Given the description of an element on the screen output the (x, y) to click on. 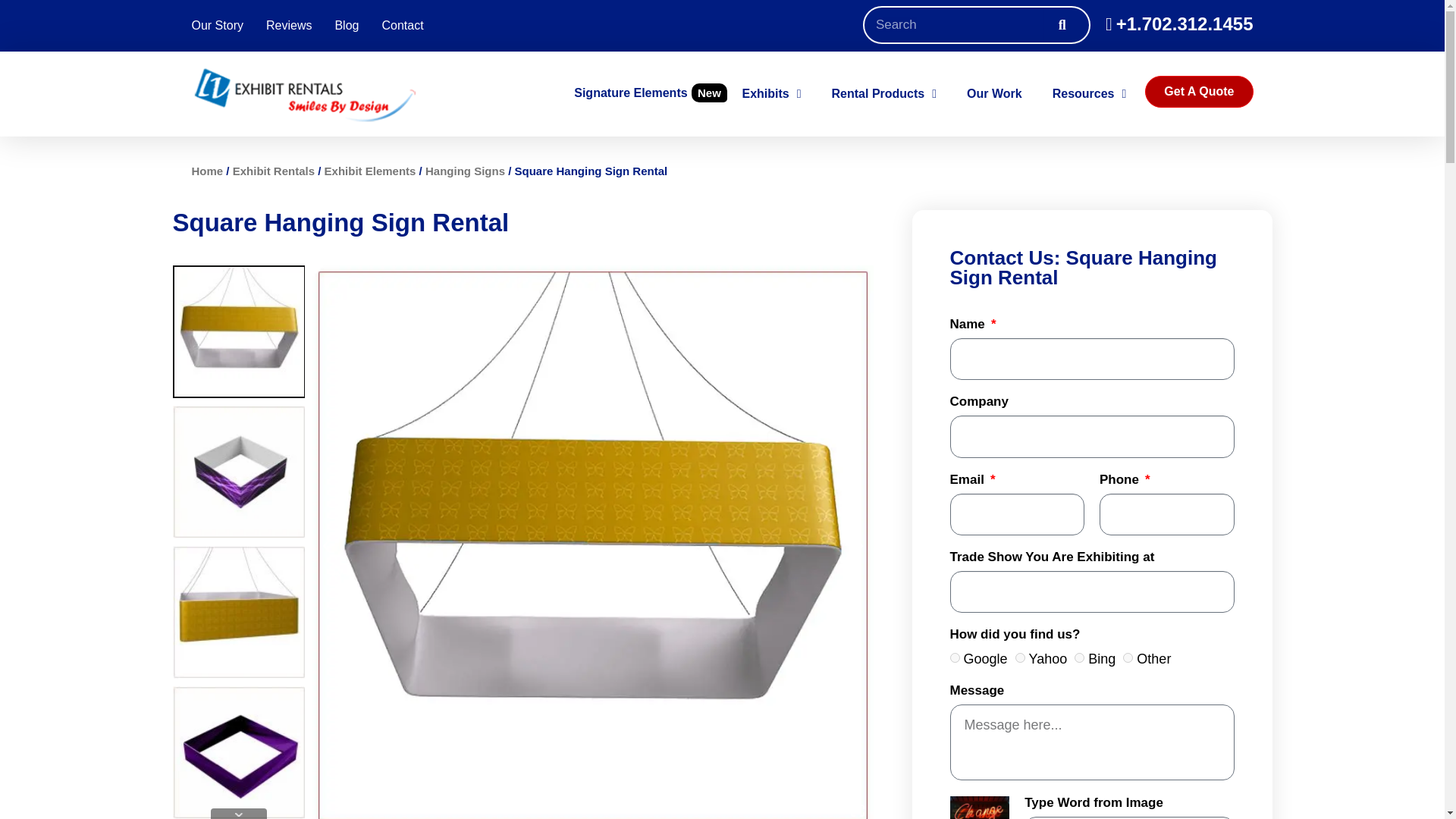
Quad Hanging Sign - LV Exhibit Rentals in Las Vegas (239, 331)
Contact (402, 25)
Quad Hanging Sign - 8ft - LV Exhibit Rentals in Las Vegas (239, 612)
Square Hanging Sign - LV Exhibit Rentals in Las Vegas (239, 471)
Google (954, 657)
Reviews (288, 25)
Yahoo (1019, 657)
Our Story (216, 25)
Signature ElementsNew (649, 92)
Bing (1079, 657)
Exhibits (770, 93)
Other (1127, 657)
